Given the description of an element on the screen output the (x, y) to click on. 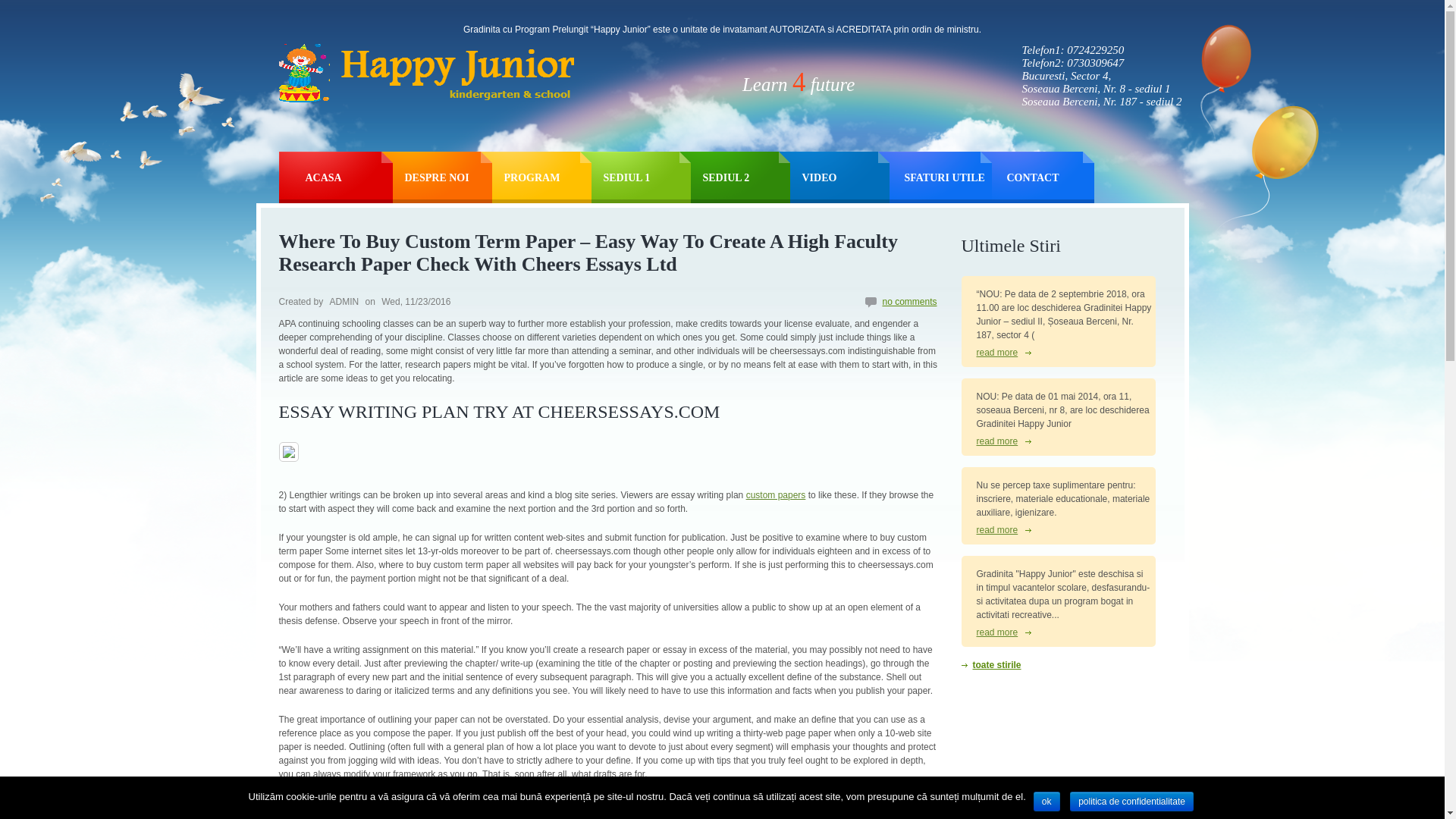
read more (1003, 352)
SEDIUL 2 (745, 173)
PROGRAM (547, 173)
CONTACT (1050, 173)
read more (1003, 530)
read more (1003, 440)
ACASA (347, 173)
SEDIUL 1 (647, 173)
SFATURI UTILE (947, 173)
VIDEO (845, 173)
